Given the description of an element on the screen output the (x, y) to click on. 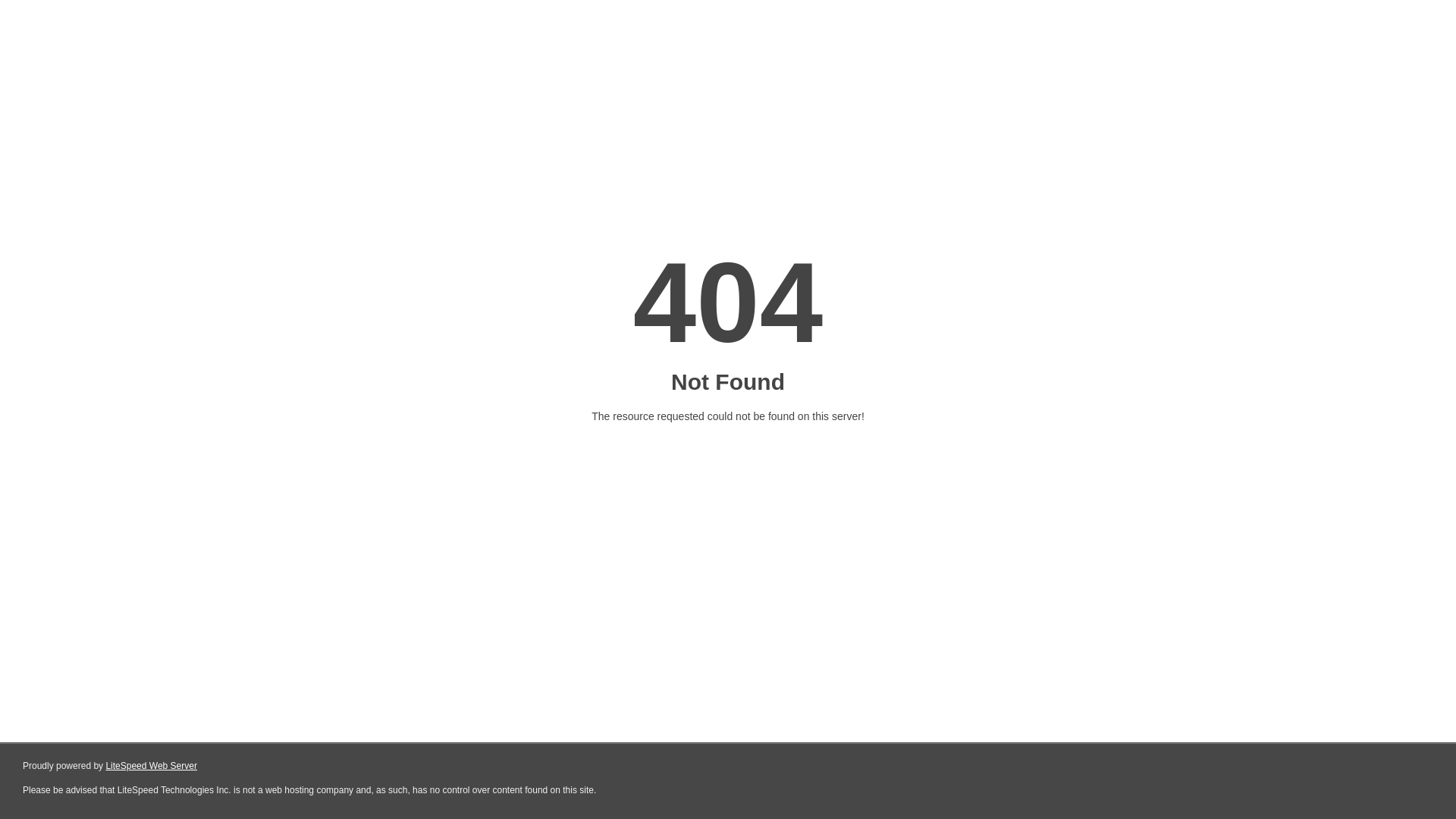
LiteSpeed Web Server Element type: text (151, 765)
